Given the description of an element on the screen output the (x, y) to click on. 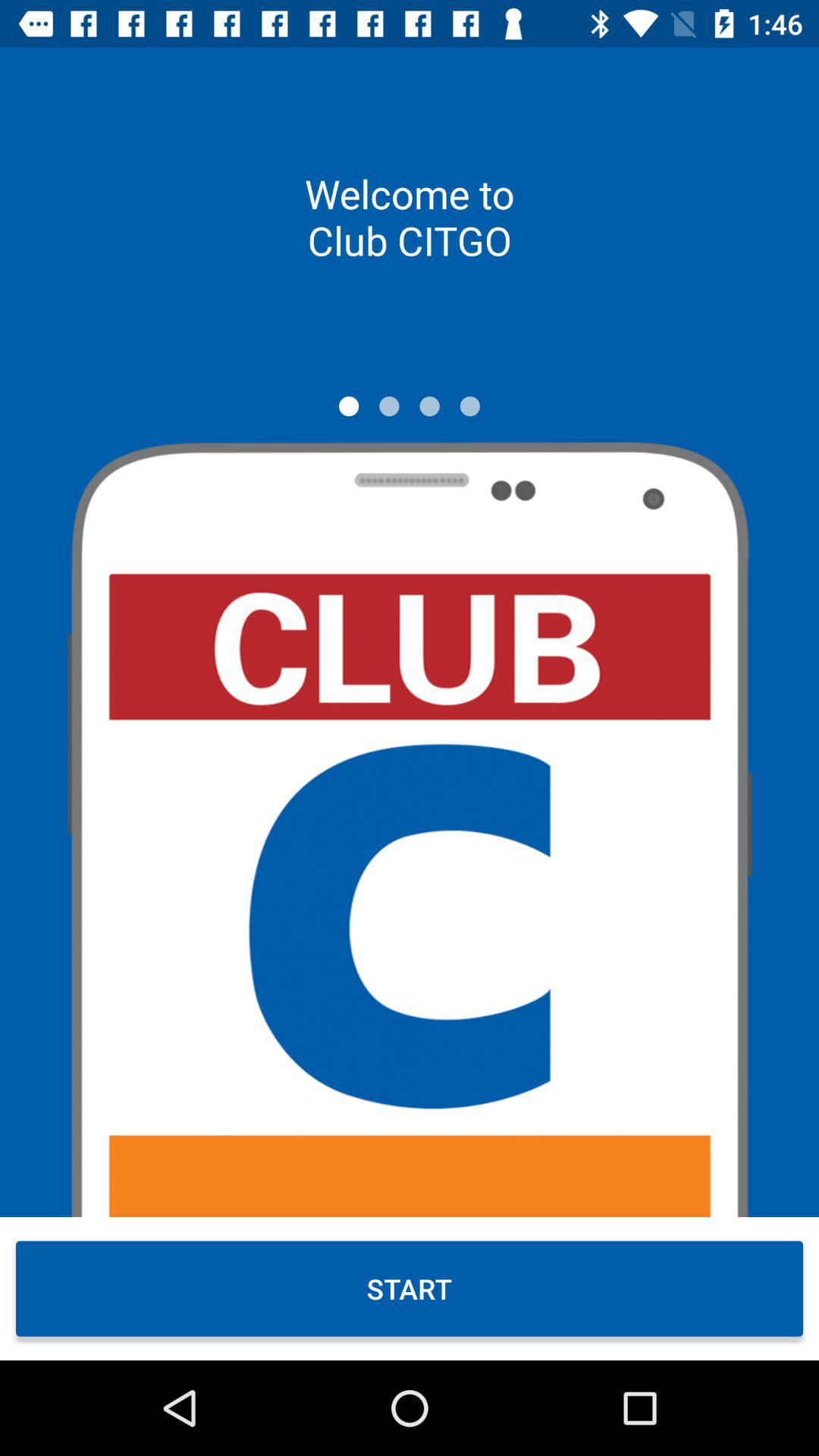
next image (389, 406)
